Given the description of an element on the screen output the (x, y) to click on. 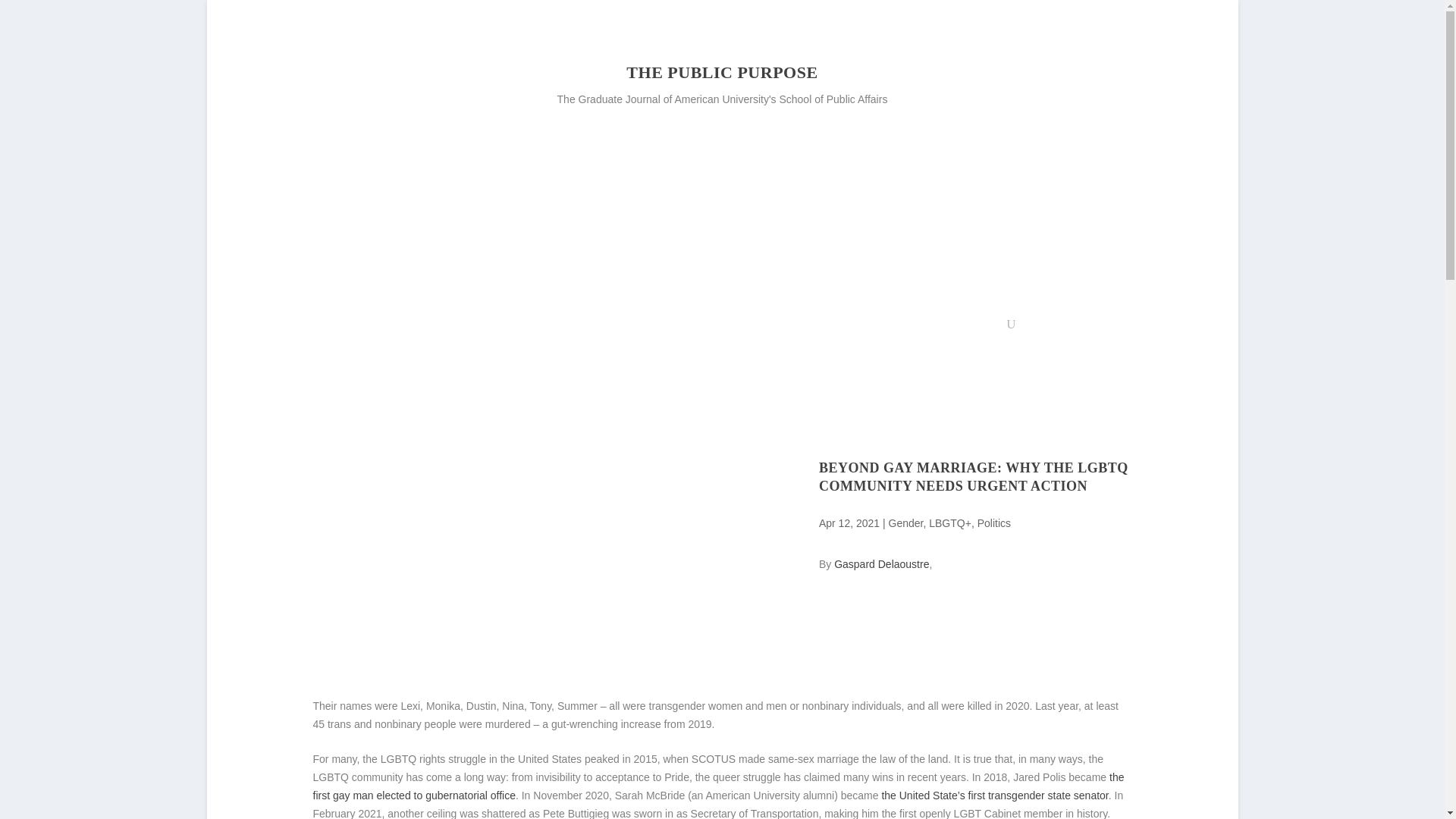
Home (434, 327)
Online Submission Guide (870, 327)
Print Guidelines (756, 327)
PPJ Logo (376, 125)
Gender (905, 522)
Newsletter (972, 327)
Gaspard Delaoustre (881, 563)
Gaspard Delaoustre (881, 563)
About Us (494, 327)
